Given the description of an element on the screen output the (x, y) to click on. 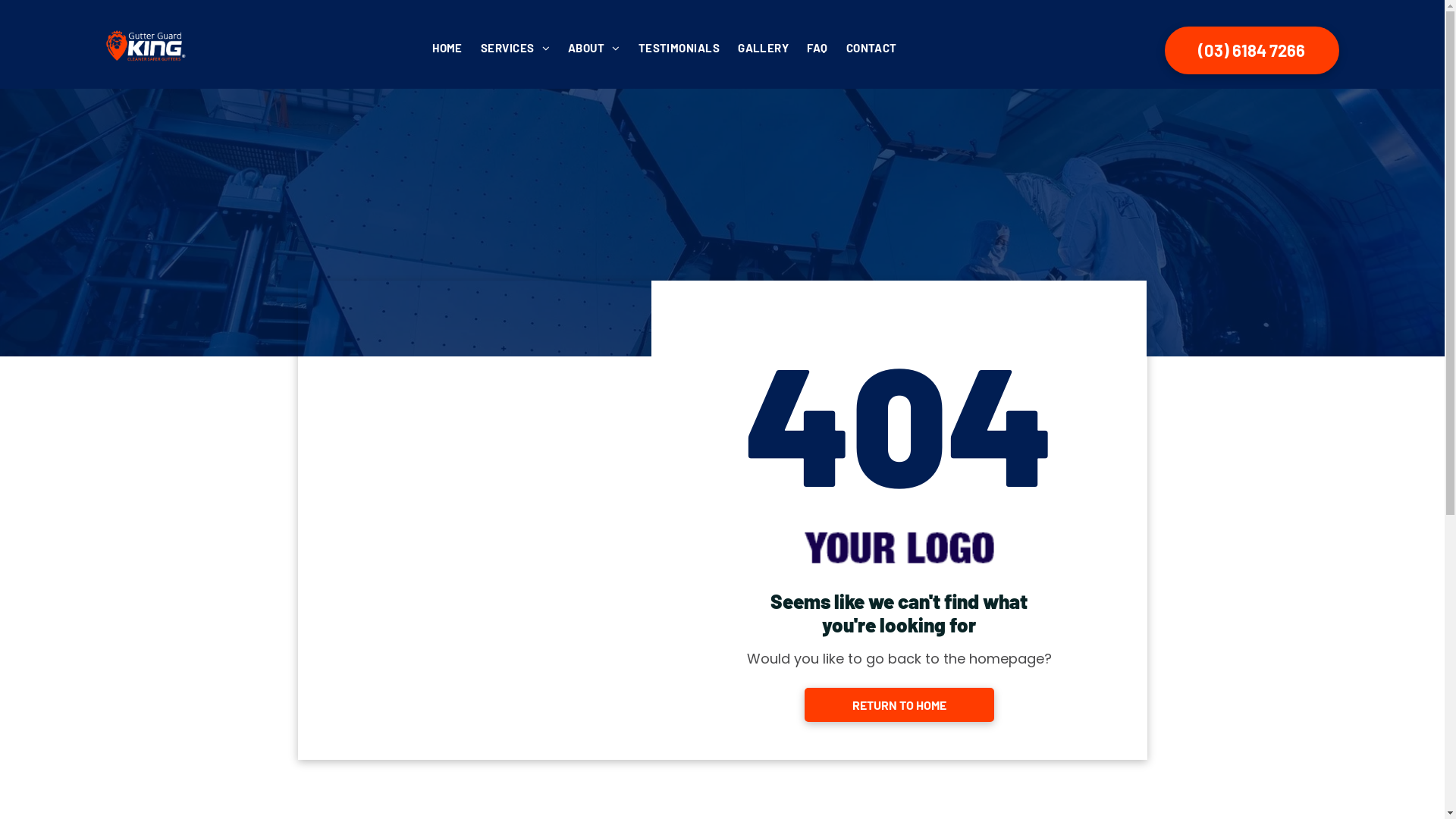
GALLERY Element type: text (762, 47)
(03) 6184 7266 Element type: text (1251, 49)
CONTACT Element type: text (871, 47)
TESTIMONIALS Element type: text (678, 47)
RETURN TO HOME Element type: text (899, 704)
FAQ Element type: text (816, 47)
ABOUT Element type: text (593, 47)
SERVICES Element type: text (515, 47)
HOME Element type: text (446, 47)
